Given the description of an element on the screen output the (x, y) to click on. 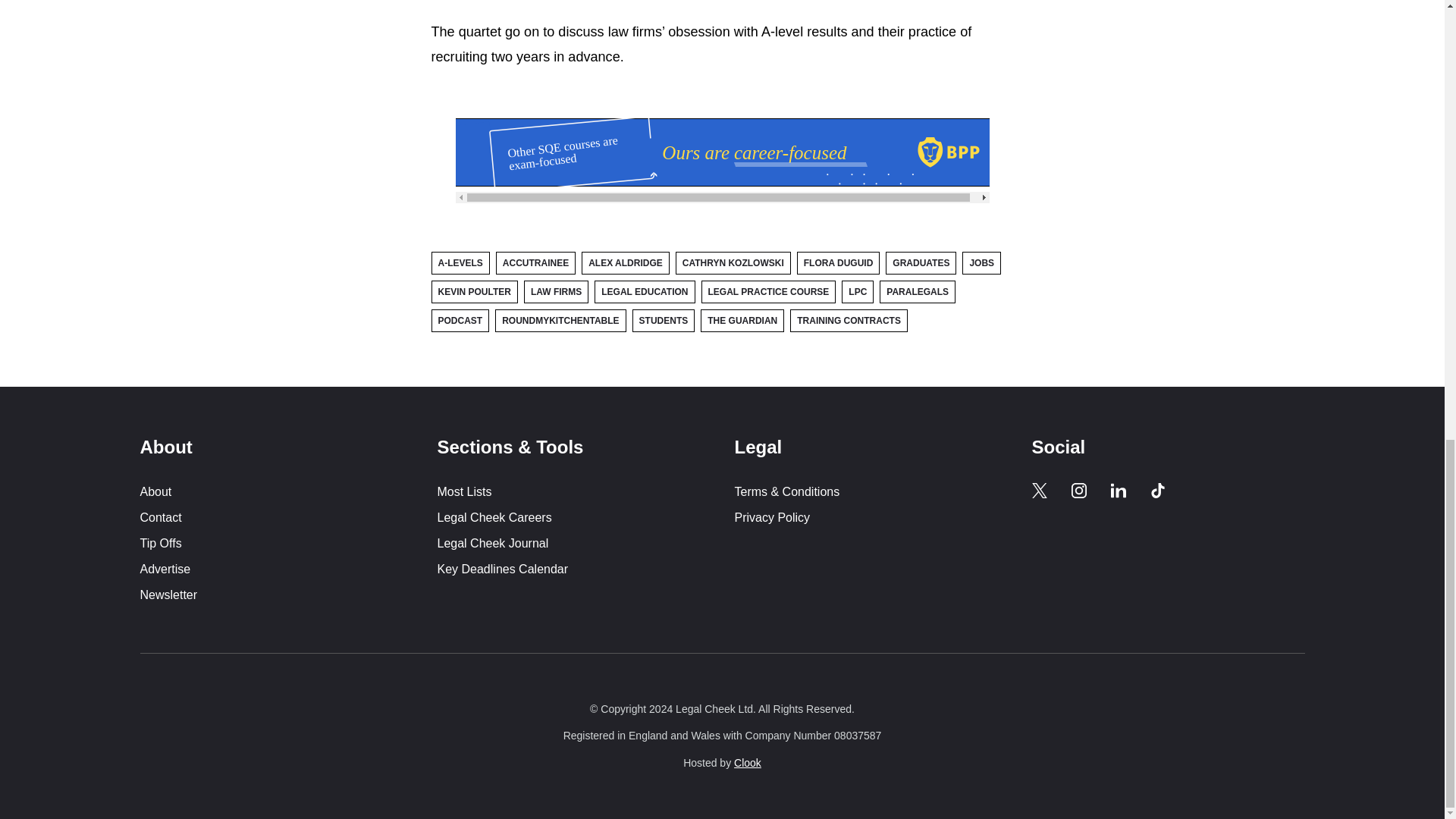
Legal Cheek Tik Tok (1157, 490)
Legal Cheek LinkedIn (1117, 490)
advertisement (721, 151)
Legal Cheek Instagram (1078, 490)
Legal Cheek Twitter (1038, 490)
A-LEVELS (459, 262)
ACCUTRAINEE (535, 262)
